Given the description of an element on the screen output the (x, y) to click on. 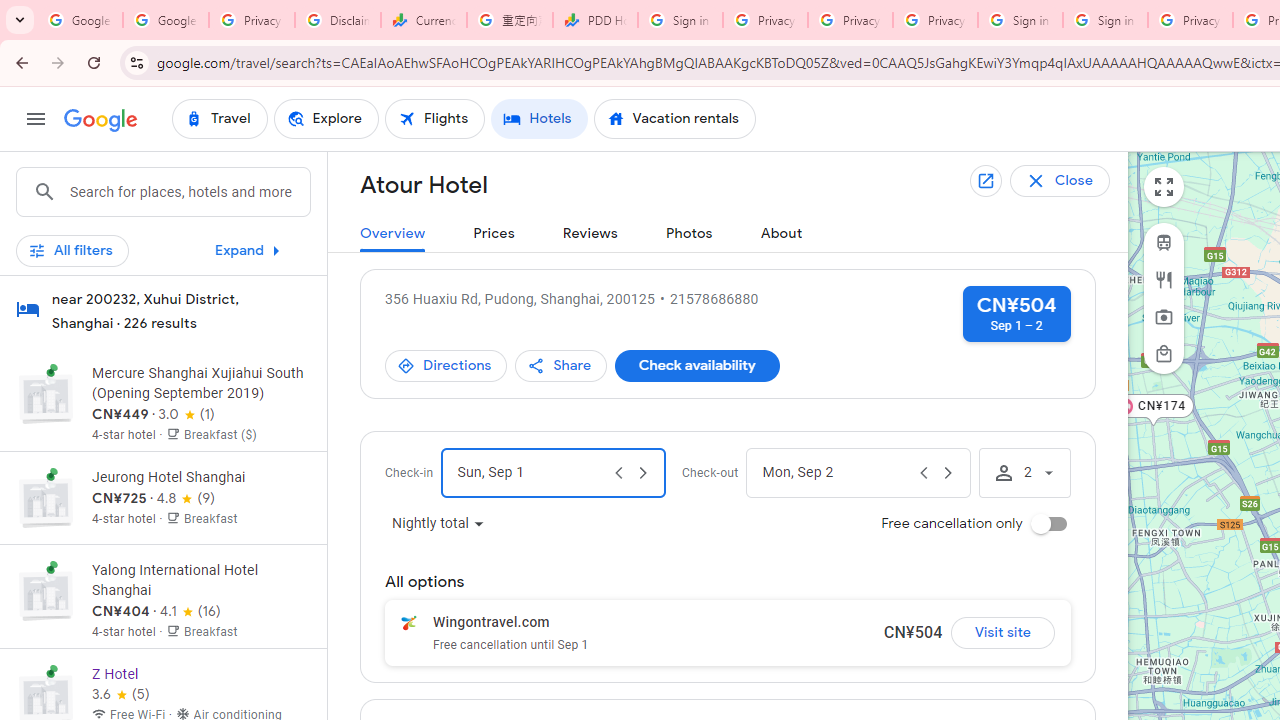
Directions (446, 366)
Areas for dining (1163, 279)
Number of travelers. Current number of travelers is 2. (1024, 472)
Check-out (836, 472)
4.1 out of 5 stars from 16 reviews (189, 611)
Google Workspace Admin Community (79, 20)
Share (561, 365)
